Given the description of an element on the screen output the (x, y) to click on. 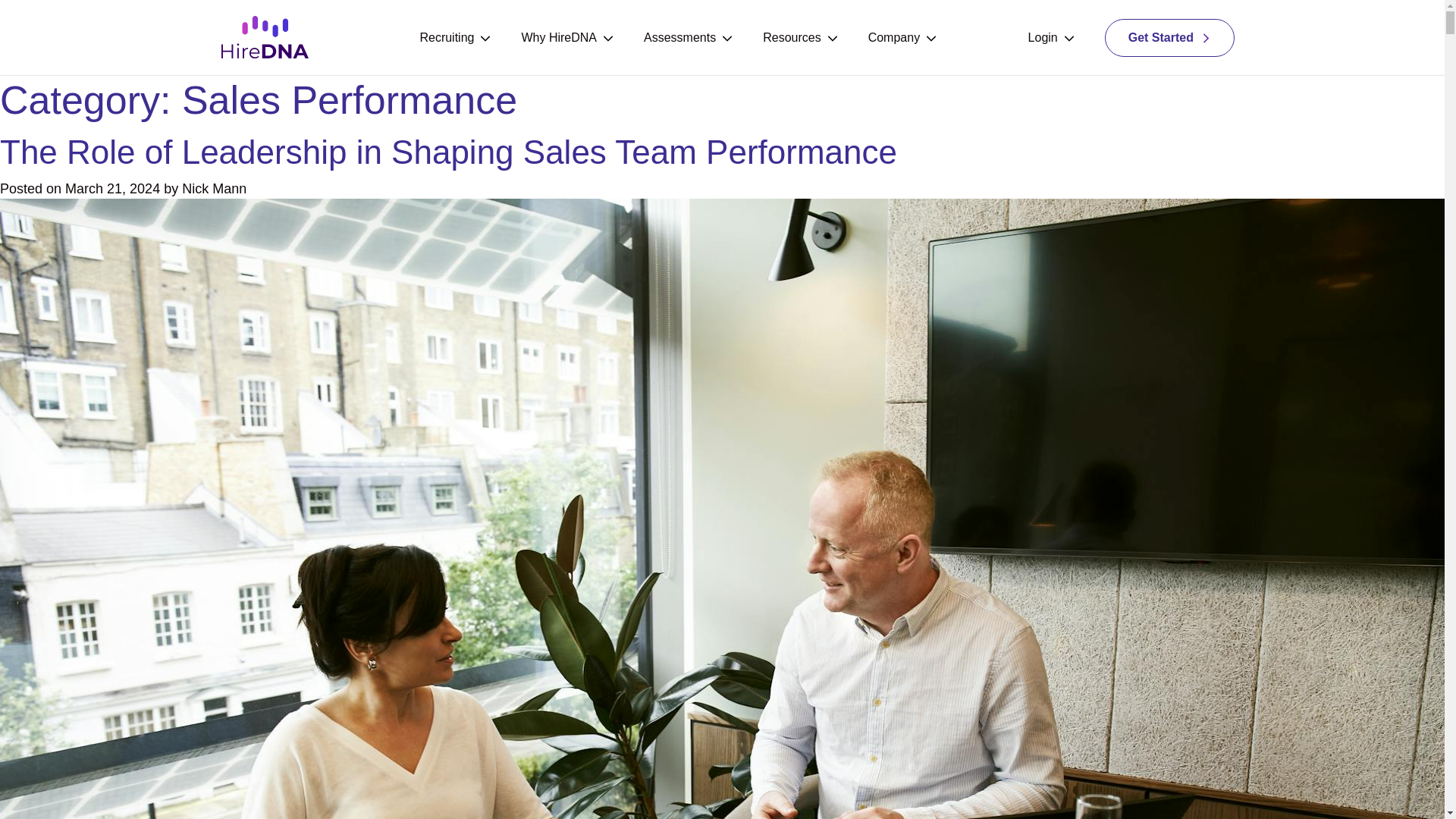
Recruiting (454, 38)
Get Started (1169, 37)
Assessments (687, 38)
Why HireDNA (566, 38)
Company (901, 38)
Resources (799, 38)
